Given the description of an element on the screen output the (x, y) to click on. 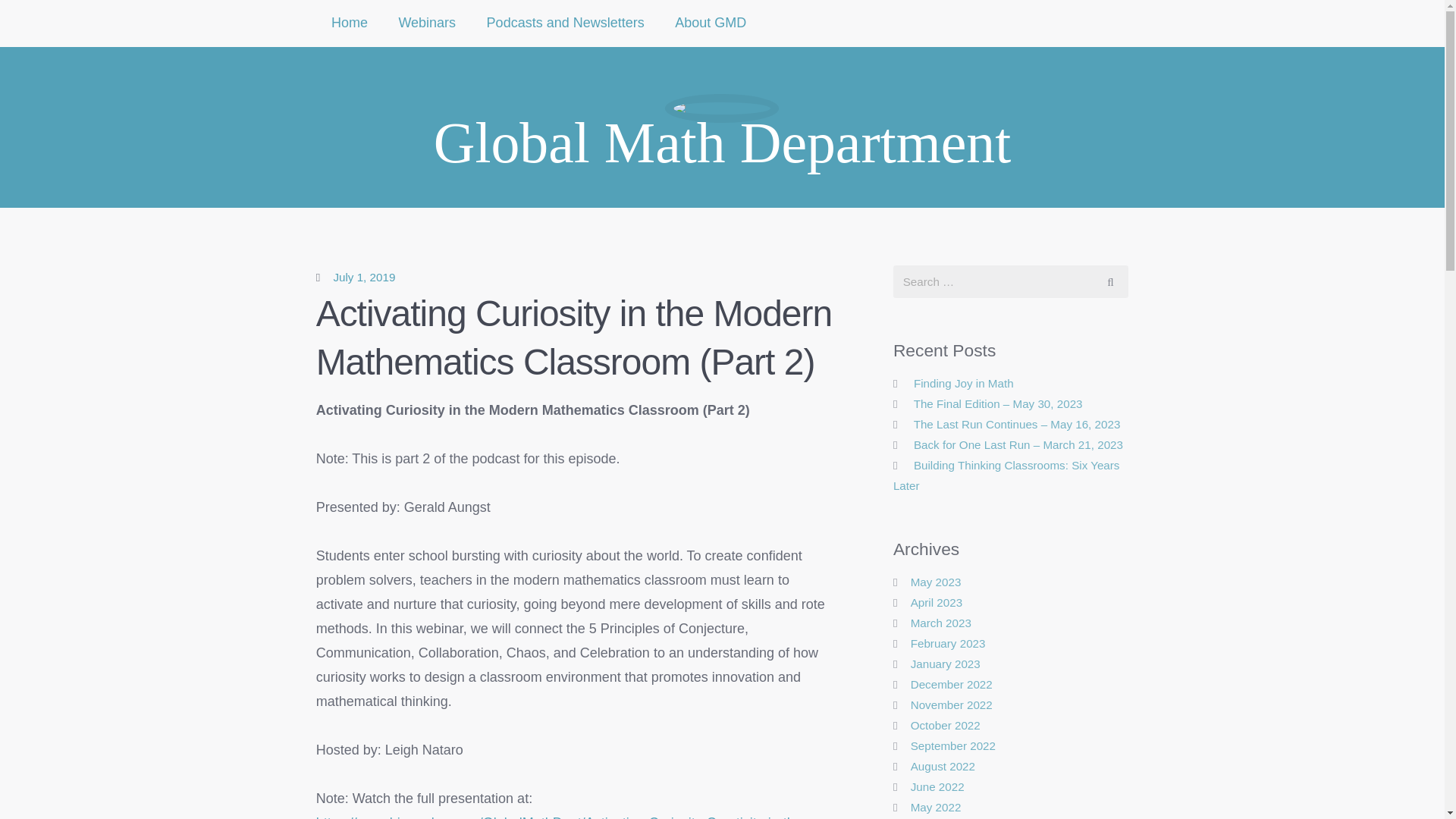
August 2022 (943, 766)
Finding Joy in Math (963, 382)
June 2022 (937, 786)
Home (349, 23)
May 2022 (935, 807)
Building Thinking Classrooms: Six Years Later (1006, 475)
About GMD (710, 23)
Global Math Department (722, 136)
December 2022 (951, 684)
May 2023 (935, 581)
